Given the description of an element on the screen output the (x, y) to click on. 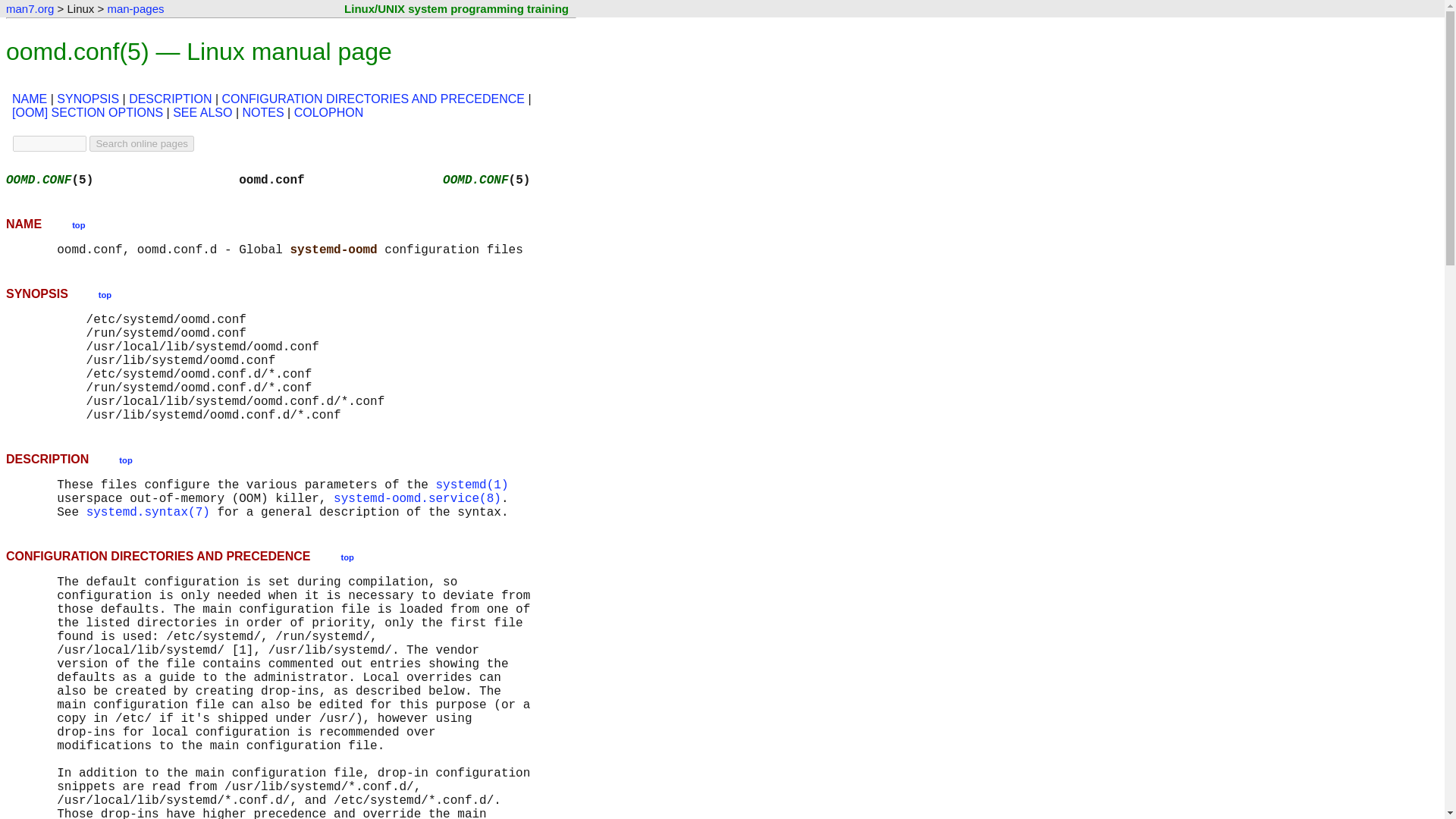
top (346, 555)
Search online pages (140, 143)
NOTES (262, 112)
Search online pages (140, 143)
top (105, 293)
top (125, 459)
SEE ALSO (202, 112)
NAME (28, 98)
SYNOPSIS (87, 98)
DESCRIPTION (170, 98)
man7.org (29, 8)
CONFIGURATION DIRECTORIES AND PRECEDENCE (373, 98)
COLOPHON (329, 112)
man-pages (134, 8)
top (77, 223)
